Given the description of an element on the screen output the (x, y) to click on. 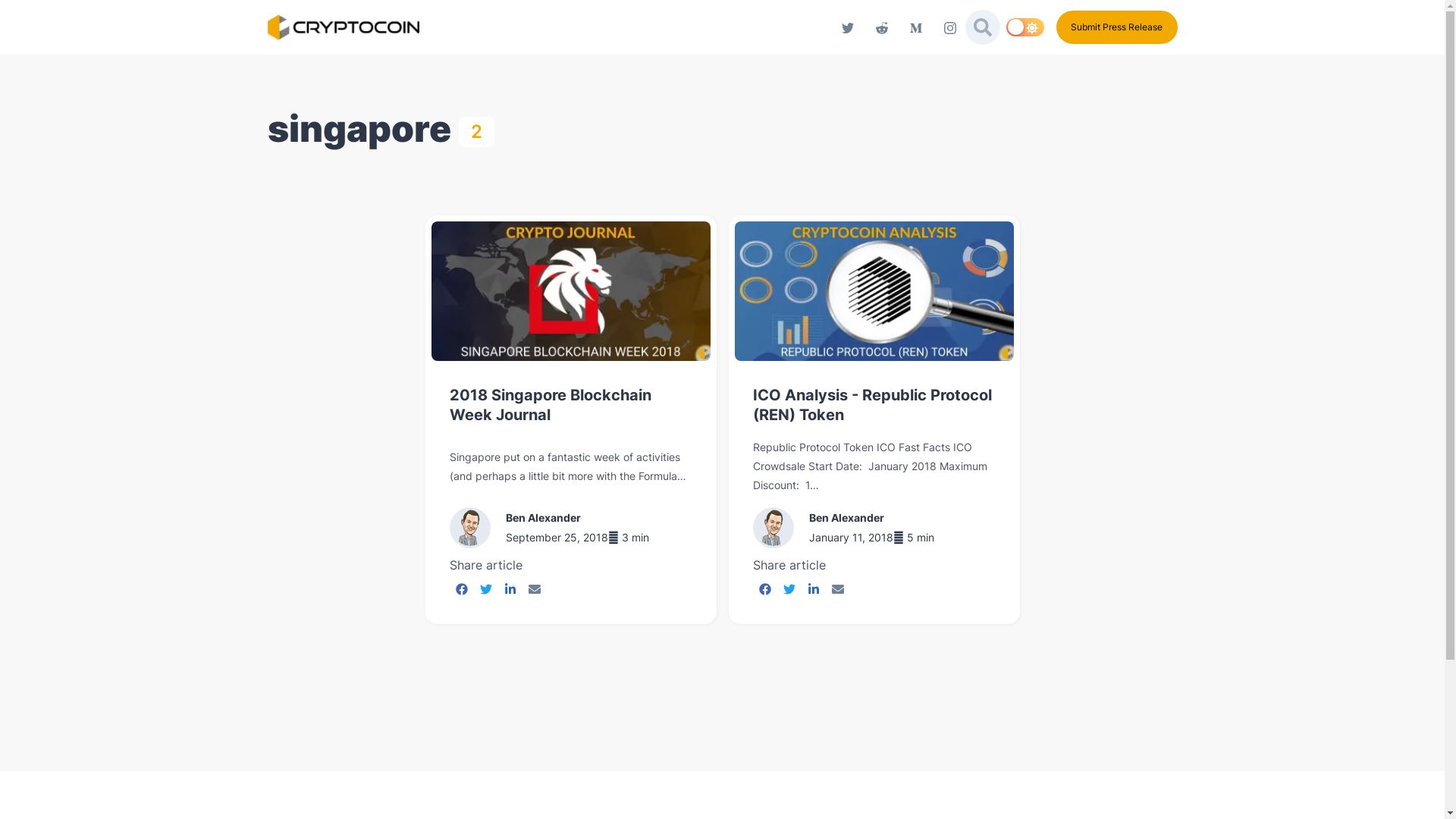
Ben Alexander Element type: text (845, 517)
Ben Alexander Element type: text (542, 517)
Submit Press Release Element type: text (1115, 26)
2018 Singapore Blockchain Week Journal Element type: text (569, 410)
ICO Analysis - Republic Protocol (REN) Token Element type: text (873, 405)
Submit Press Release Element type: text (1115, 25)
